Given the description of an element on the screen output the (x, y) to click on. 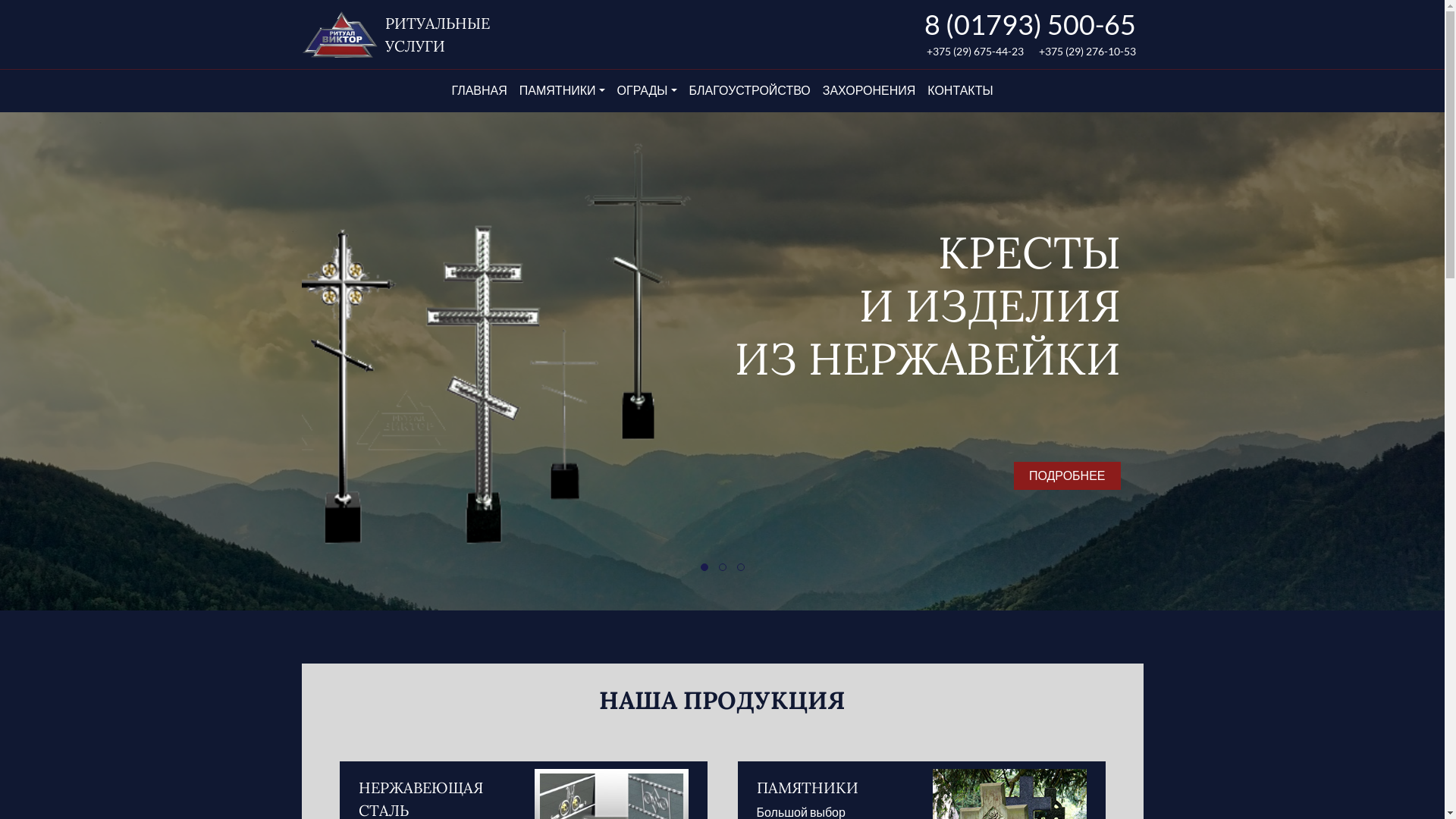
+375 (29) 675-44-23 Element type: text (974, 50)
8 (01793) 500-65 Element type: text (1029, 23)
+375 (29) 276-10-53 Element type: text (1086, 50)
